Given the description of an element on the screen output the (x, y) to click on. 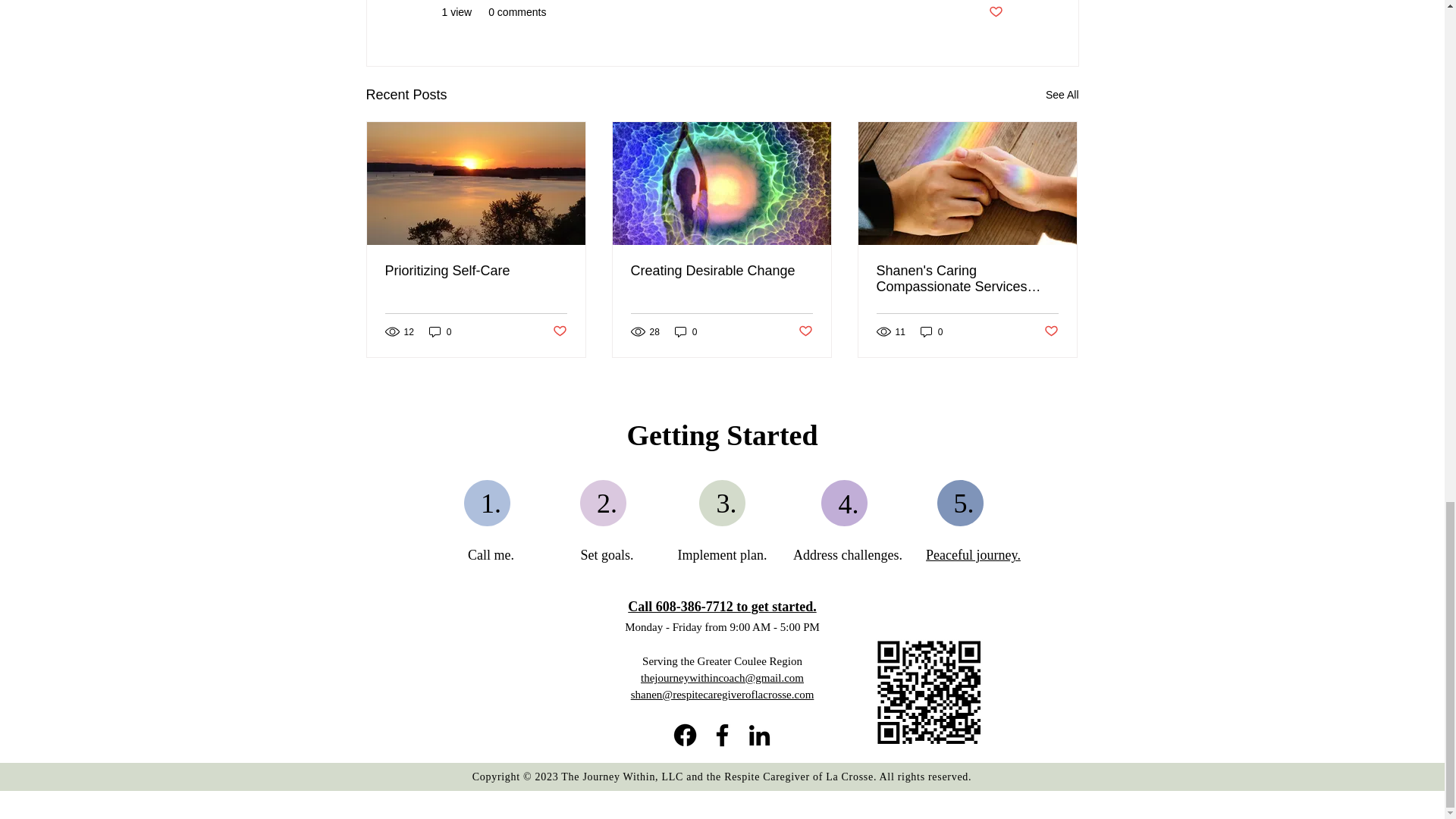
Post not marked as liked (995, 12)
Post not marked as liked (1050, 331)
Shanen's Caring Compassionate Services Testimonial (967, 278)
qrcode.png (927, 691)
Post not marked as liked (558, 331)
0 (440, 331)
0 (685, 331)
Post not marked as liked (804, 331)
See All (1061, 95)
Prioritizing Self-Care (476, 270)
Call 608-386-7712 to get started. (721, 607)
Creating Desirable Change (721, 270)
Peaceful journey. (973, 554)
0 (931, 331)
